Given the description of an element on the screen output the (x, y) to click on. 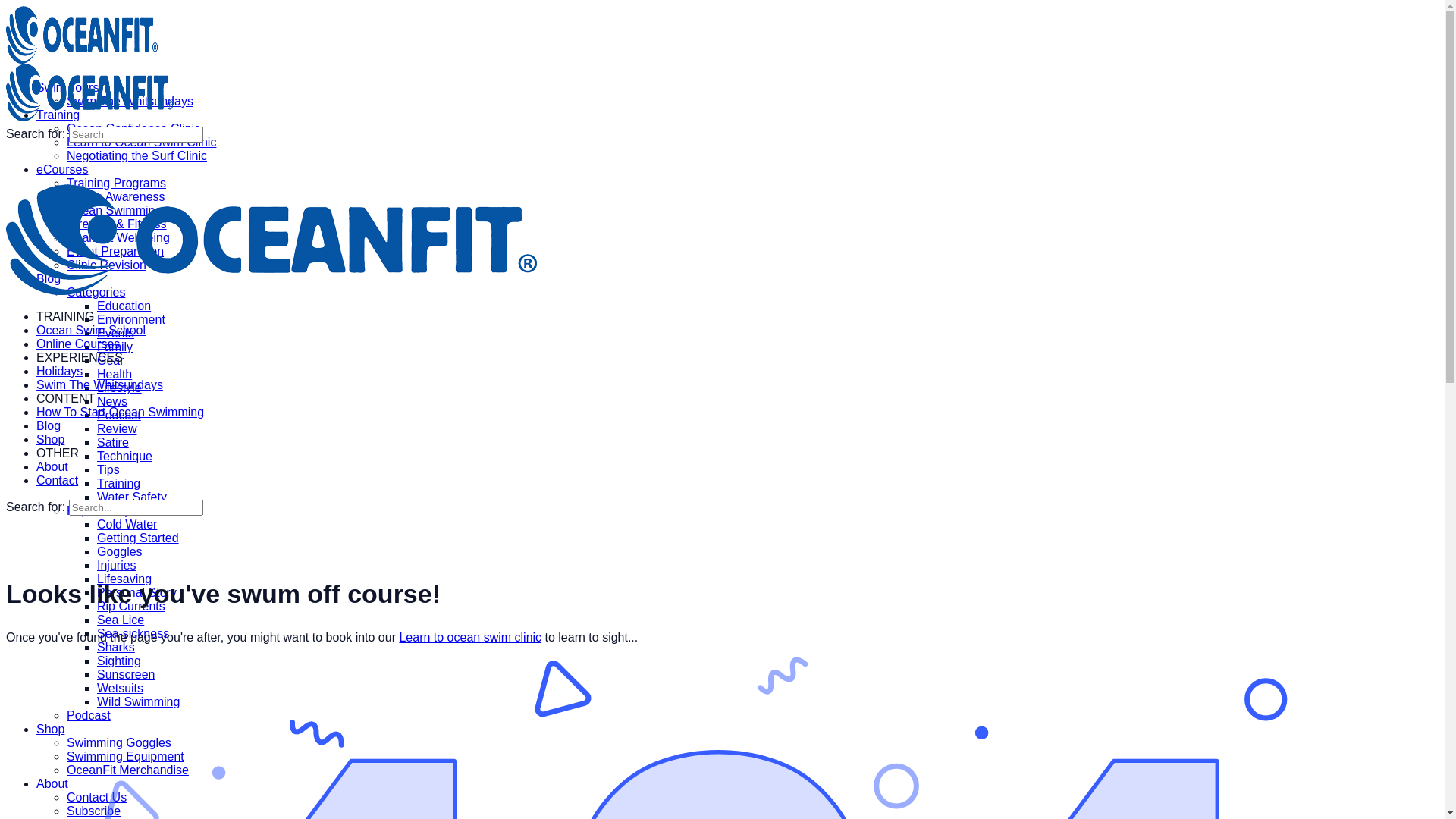
Sharks Element type: text (115, 646)
Swimming Equipment Element type: text (125, 755)
Gear Element type: text (110, 360)
Contact Element type: text (57, 479)
Podcast Element type: text (119, 414)
Popular Topics Element type: text (106, 510)
Education Element type: text (123, 305)
Wetsuits Element type: text (120, 687)
Sea Lice Element type: text (120, 619)
CONTENT Element type: text (65, 398)
How To Start Ocean Swimming Element type: text (119, 411)
Training Element type: text (57, 114)
Shop Element type: text (50, 439)
Review Element type: text (116, 428)
Swimming Goggles Element type: text (118, 742)
Ocean Swim School Element type: text (90, 329)
OceanFit Merchandise Element type: text (127, 769)
eCourses Element type: text (61, 169)
OTHER Element type: text (57, 452)
Subscribe Element type: text (93, 810)
Podcast Element type: text (88, 715)
Ocean Awareness Element type: text (115, 196)
Training Element type: text (118, 482)
Swim The Whitsundays Element type: text (99, 384)
Swim The Whitsundays Element type: text (129, 100)
EXPERIENCES Element type: text (79, 357)
Shop Element type: text (50, 728)
Water Safety Element type: text (131, 496)
Blog Element type: text (48, 425)
Online Courses Element type: text (77, 343)
Learn to ocean swim clinic Element type: text (469, 636)
Sea-sickness Element type: text (133, 633)
Sighting Element type: text (119, 660)
News Element type: text (112, 401)
Getting Started Element type: text (137, 537)
Wild Swimming Element type: text (138, 701)
Categories Element type: text (95, 291)
Cold Water Element type: text (126, 523)
Goggles Element type: text (119, 551)
Training Programs Element type: text (116, 182)
About Element type: text (52, 466)
Negotiating the Surf Clinic Element type: text (136, 155)
Health Element type: text (114, 373)
Strength & Fitness Element type: text (116, 223)
Sunscreen Element type: text (126, 674)
Technique Element type: text (124, 455)
Learn to Ocean Swim Clinic Element type: text (141, 141)
Injuries Element type: text (116, 564)
Ocean Confidence Clinic Element type: text (133, 128)
Blog Element type: text (48, 278)
Family Element type: text (114, 346)
Contact Us Element type: text (96, 796)
Ocean Swimming Element type: text (113, 209)
Lifesaving Element type: text (124, 578)
Satire Element type: text (112, 442)
Tips Element type: text (108, 469)
Holidays Element type: text (59, 370)
Event Preparation Element type: text (114, 250)
Environment Element type: text (131, 319)
TRAINING Element type: text (65, 316)
About Element type: text (52, 783)
Swim Tours Element type: text (67, 87)
Personal Story Element type: text (136, 592)
Lifestyle Element type: text (119, 387)
Rip Currents Element type: text (131, 605)
Health & Wellbeing Element type: text (117, 237)
Clinic Revision Element type: text (106, 264)
Events Element type: text (115, 332)
